Given the description of an element on the screen output the (x, y) to click on. 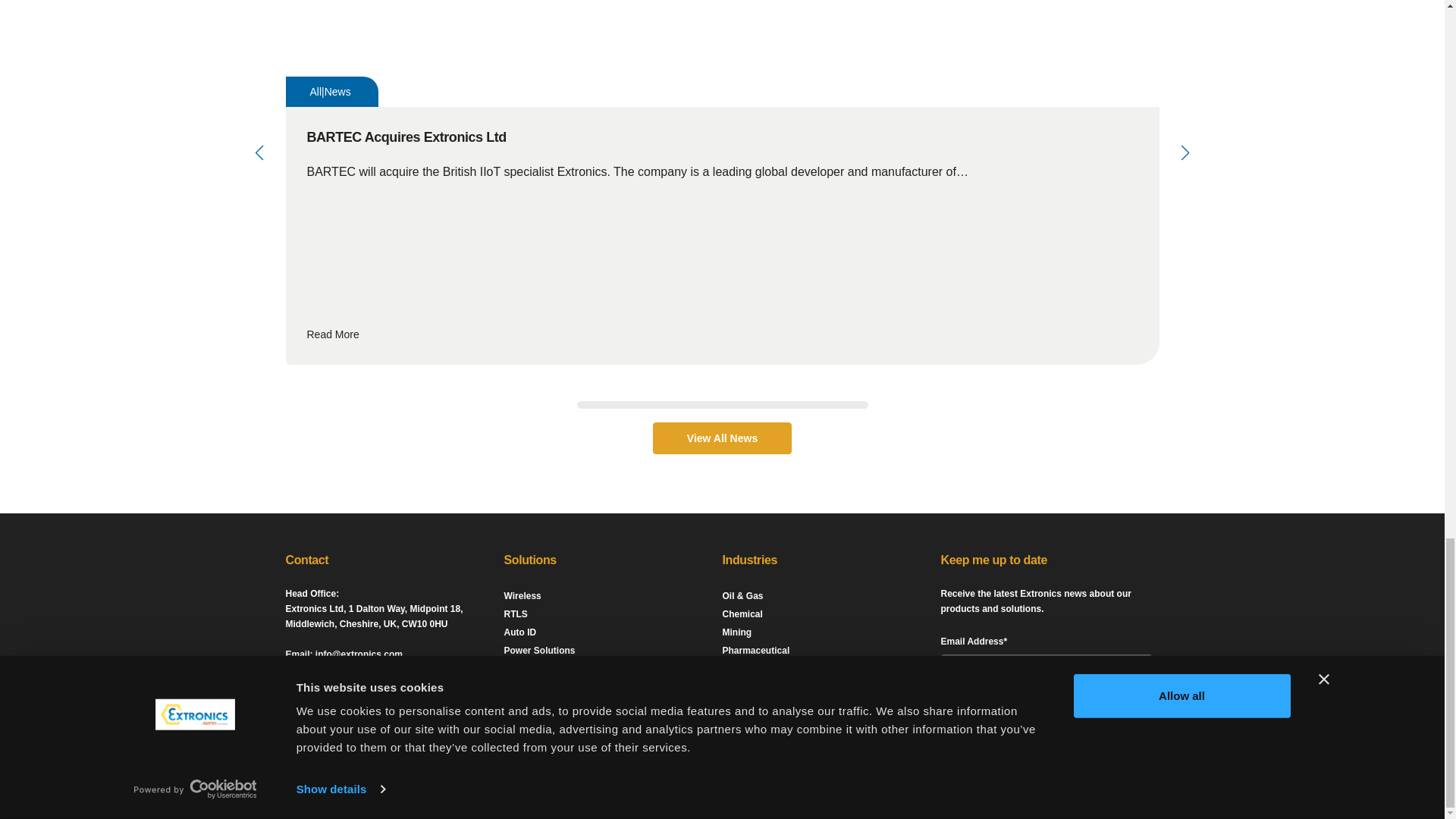
Subscribe (999, 721)
